Given the description of an element on the screen output the (x, y) to click on. 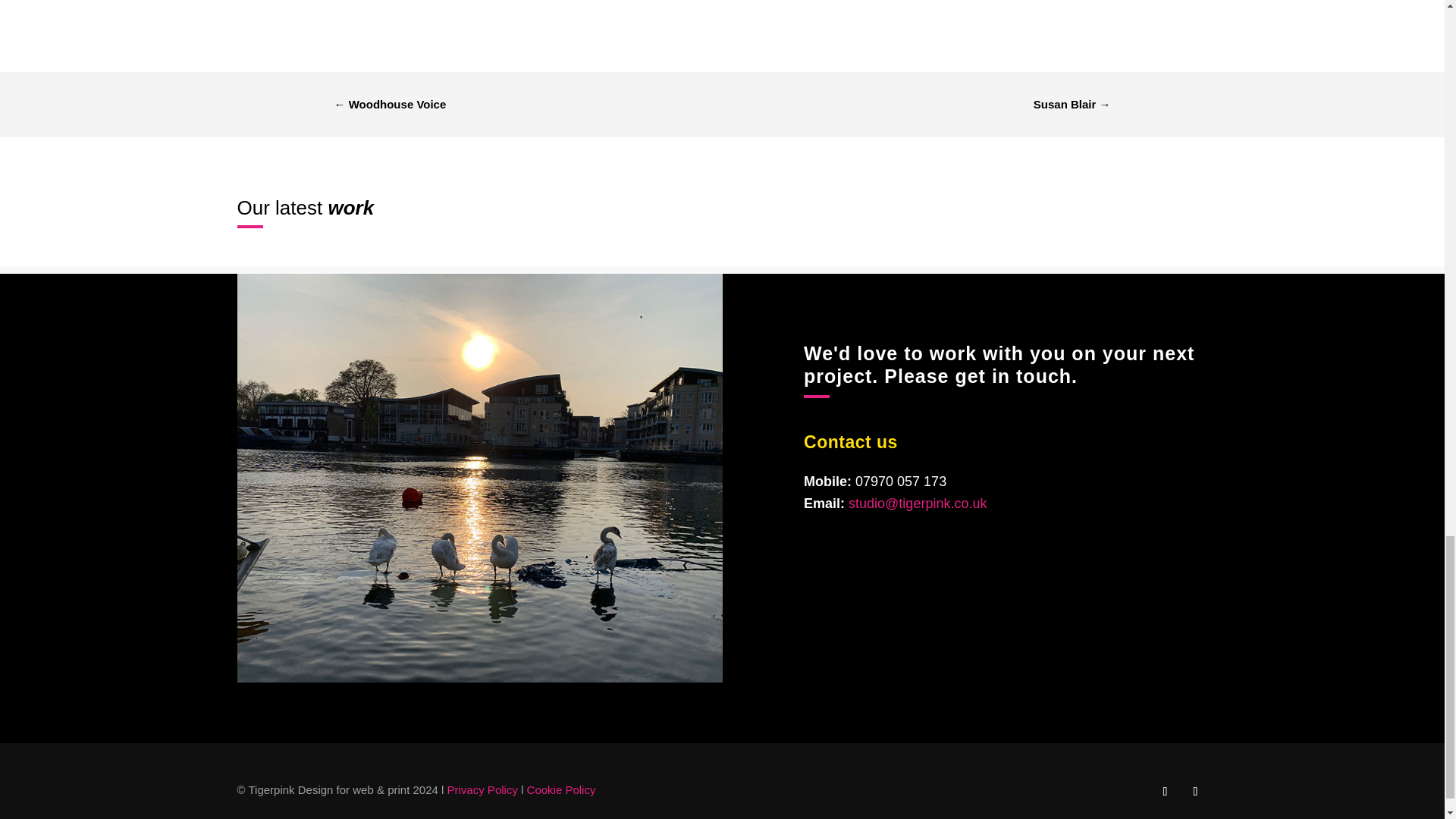
Read our Privacy Policy (482, 789)
Follow on Instagram (1194, 791)
Follow on X (1164, 791)
Read our Cookie Policy (561, 789)
Cookie Policy (561, 789)
Privacy Policy (482, 789)
